Given the description of an element on the screen output the (x, y) to click on. 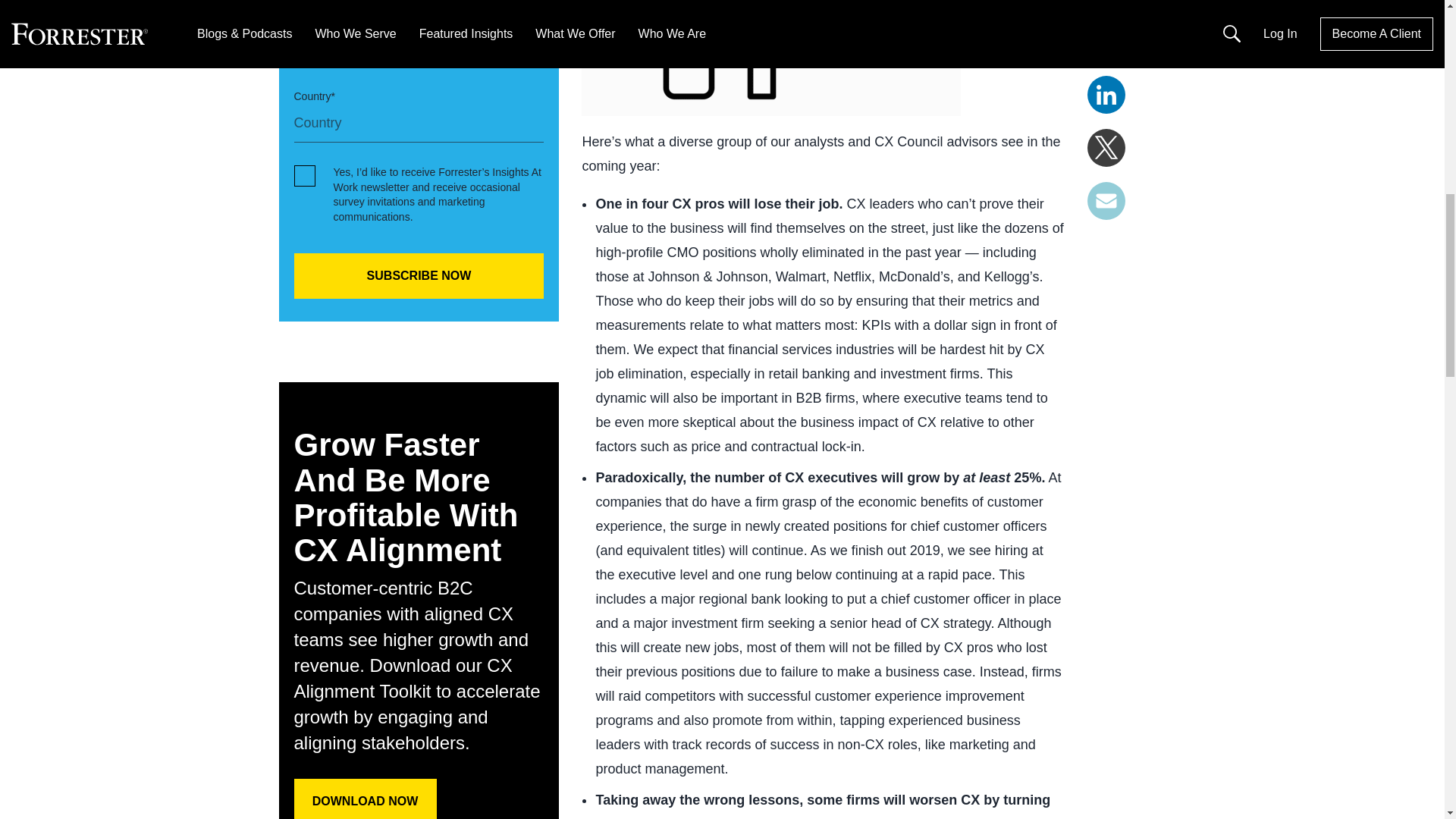
Subscribe Now (419, 275)
